Given the description of an element on the screen output the (x, y) to click on. 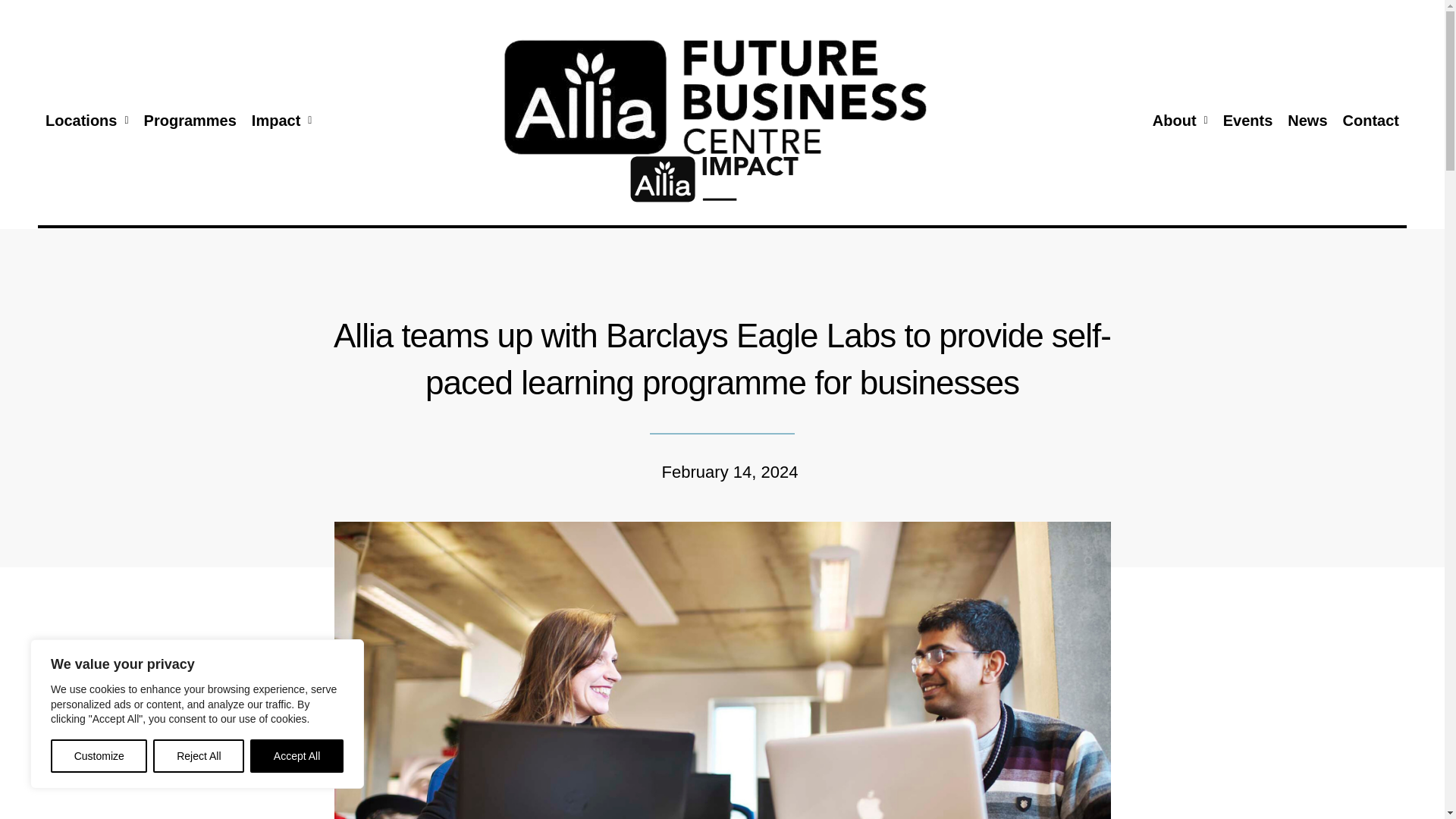
Customize (98, 756)
Accept All (296, 756)
Locations (86, 120)
Impact (282, 120)
Reject All (198, 756)
Programmes (190, 120)
